Given the description of an element on the screen output the (x, y) to click on. 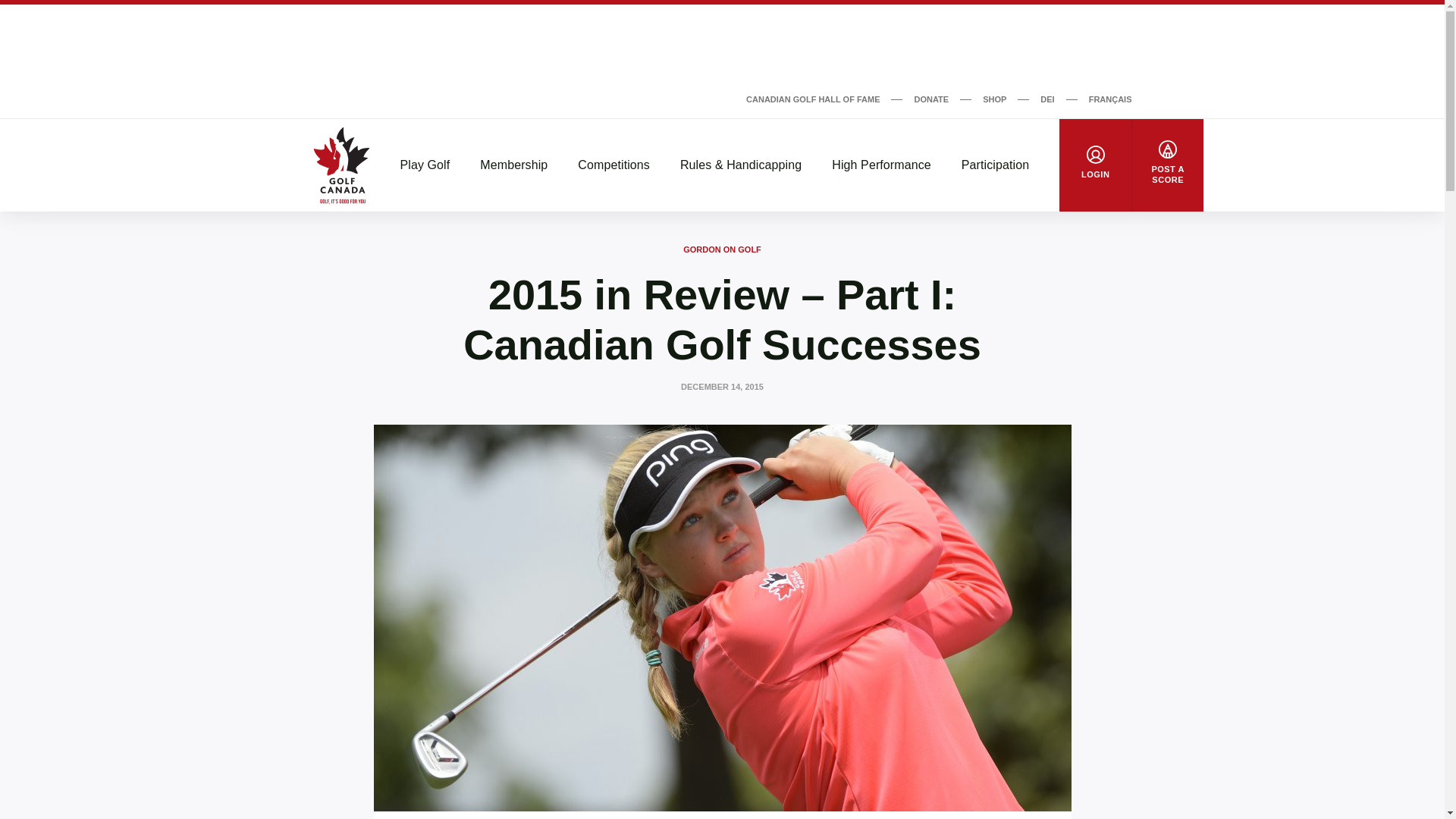
Participation (994, 165)
CANADIAN GOLF HALL OF FAME (812, 99)
SHOP (994, 99)
3rd party ad content (721, 46)
Play Golf (425, 165)
DONATE (931, 99)
High Performance (881, 165)
Membership (513, 165)
Competitions (613, 165)
DEI (1047, 99)
